Given the description of an element on the screen output the (x, y) to click on. 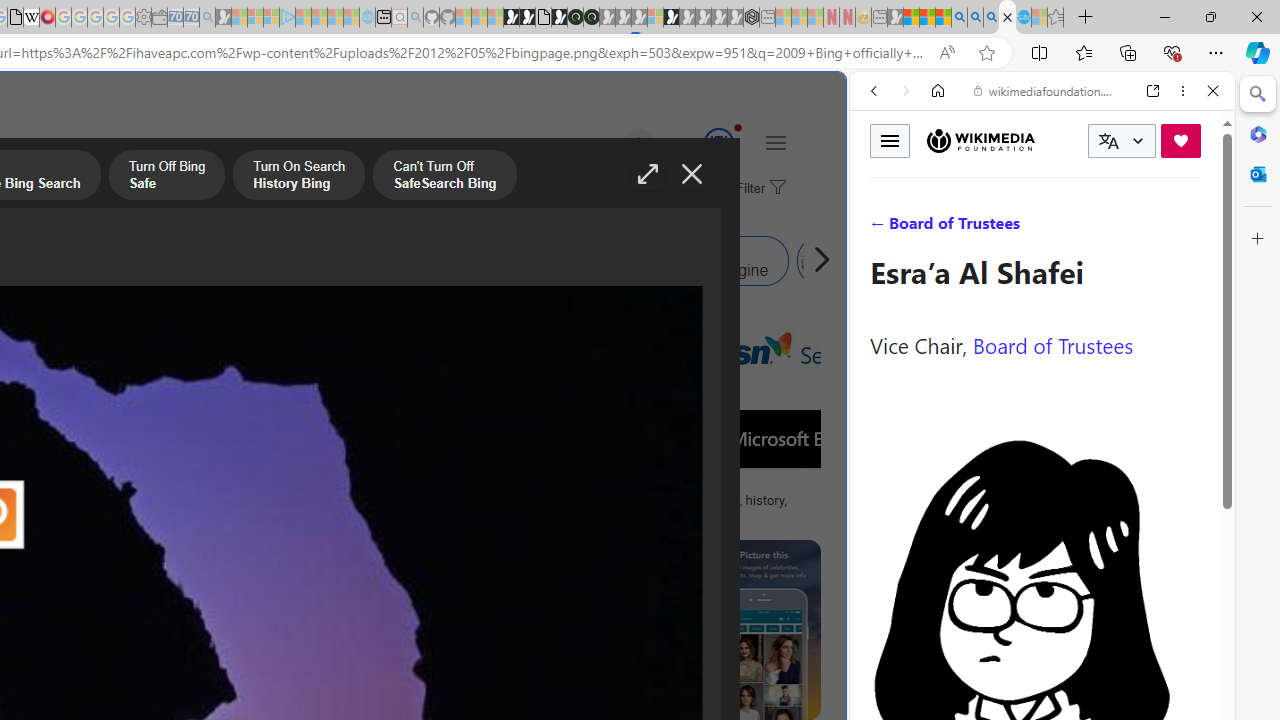
github - Search - Sleeping (415, 17)
Bing Logo, symbol, meaning, history, PNG, brand (695, 508)
Close image (692, 173)
Target page - Wikipedia (31, 17)
Technology History timeline | Timetoast timelinesSave (189, 417)
Sign in to your account - Sleeping (655, 17)
